Given the description of an element on the screen output the (x, y) to click on. 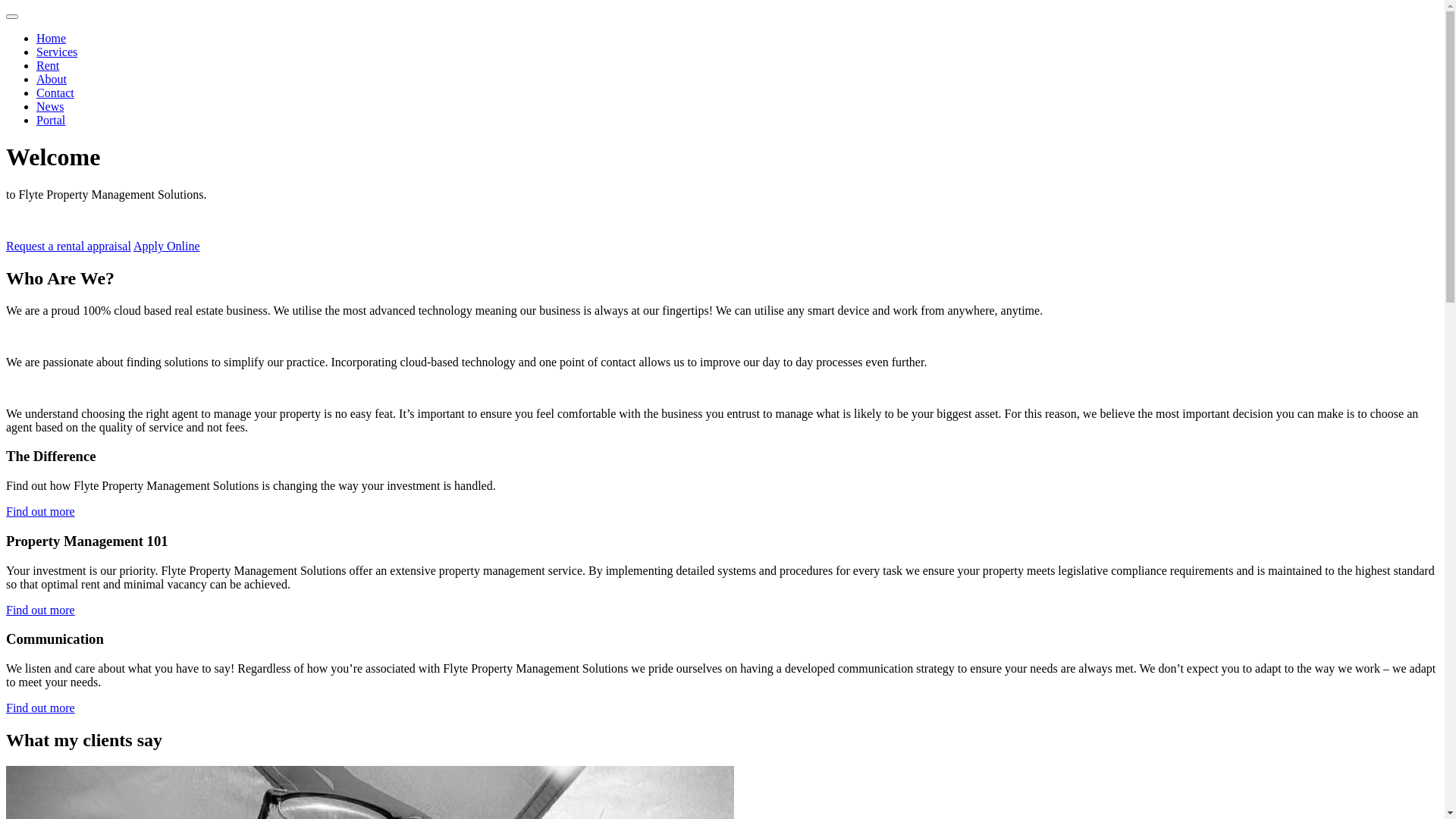
News Element type: text (49, 106)
Find out more Element type: text (40, 511)
Home Element type: text (50, 37)
About Element type: text (51, 78)
Find out more Element type: text (40, 609)
Portal Element type: text (50, 119)
Contact Element type: text (55, 92)
Rent Element type: text (47, 65)
Request a rental appraisal Element type: text (68, 245)
Find out more Element type: text (40, 707)
Services Element type: text (56, 51)
Apply Online Element type: text (166, 245)
